Given the description of an element on the screen output the (x, y) to click on. 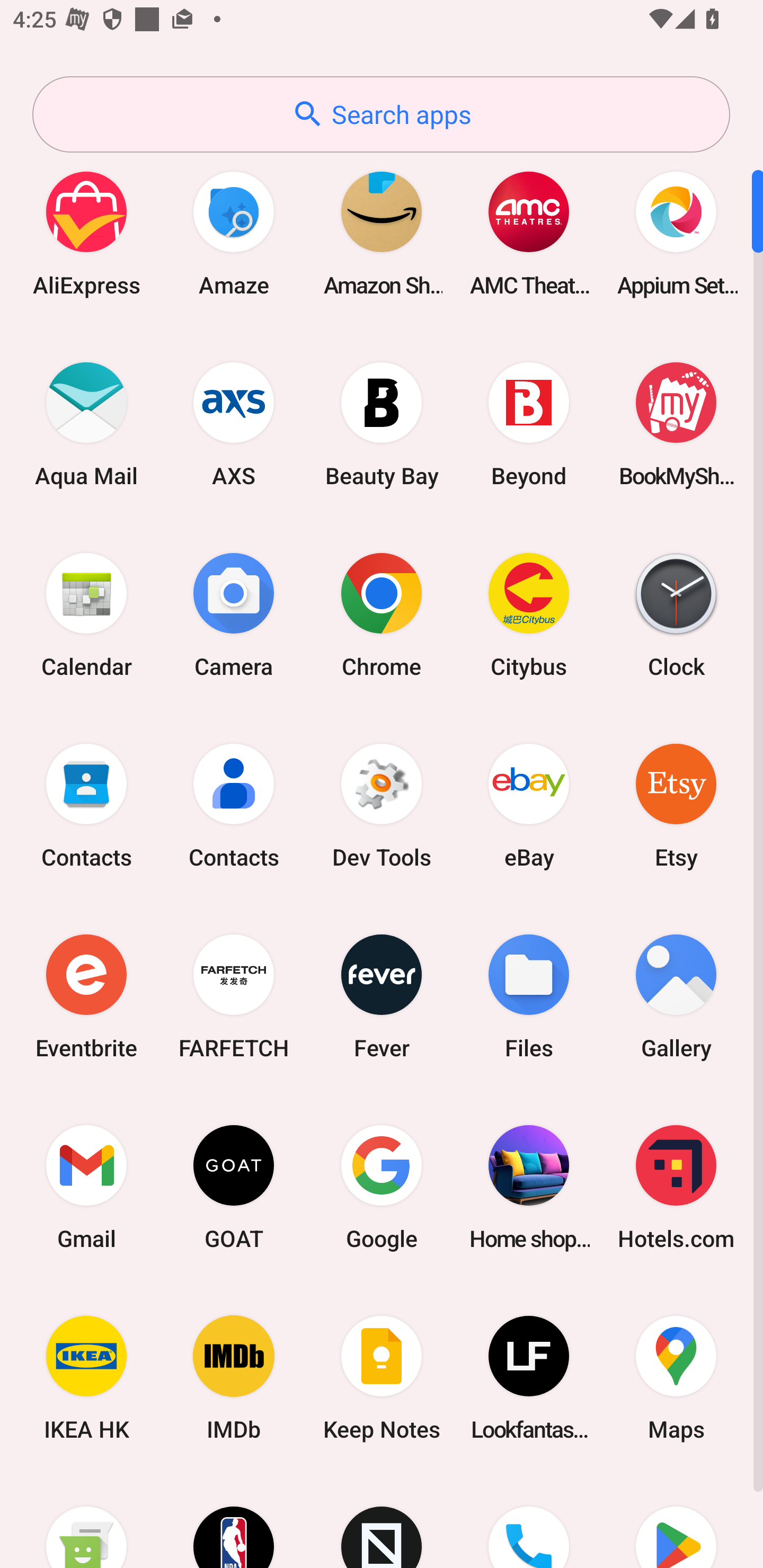
  Search apps (381, 114)
AliExpress (86, 233)
Amaze (233, 233)
Amazon Shopping (381, 233)
AMC Theatres (528, 233)
Appium Settings (676, 233)
Aqua Mail (86, 424)
AXS (233, 424)
Beauty Bay (381, 424)
Beyond (528, 424)
BookMyShow (676, 424)
Calendar (86, 614)
Camera (233, 614)
Chrome (381, 614)
Citybus (528, 614)
Clock (676, 614)
Contacts (86, 805)
Contacts (233, 805)
Dev Tools (381, 805)
eBay (528, 805)
Etsy (676, 805)
Eventbrite (86, 996)
FARFETCH (233, 996)
Fever (381, 996)
Files (528, 996)
Gallery (676, 996)
Gmail (86, 1186)
GOAT (233, 1186)
Google (381, 1186)
Home shopping (528, 1186)
Hotels.com (676, 1186)
IKEA HK (86, 1377)
IMDb (233, 1377)
Keep Notes (381, 1377)
Lookfantastic (528, 1377)
Maps (676, 1377)
